Given the description of an element on the screen output the (x, y) to click on. 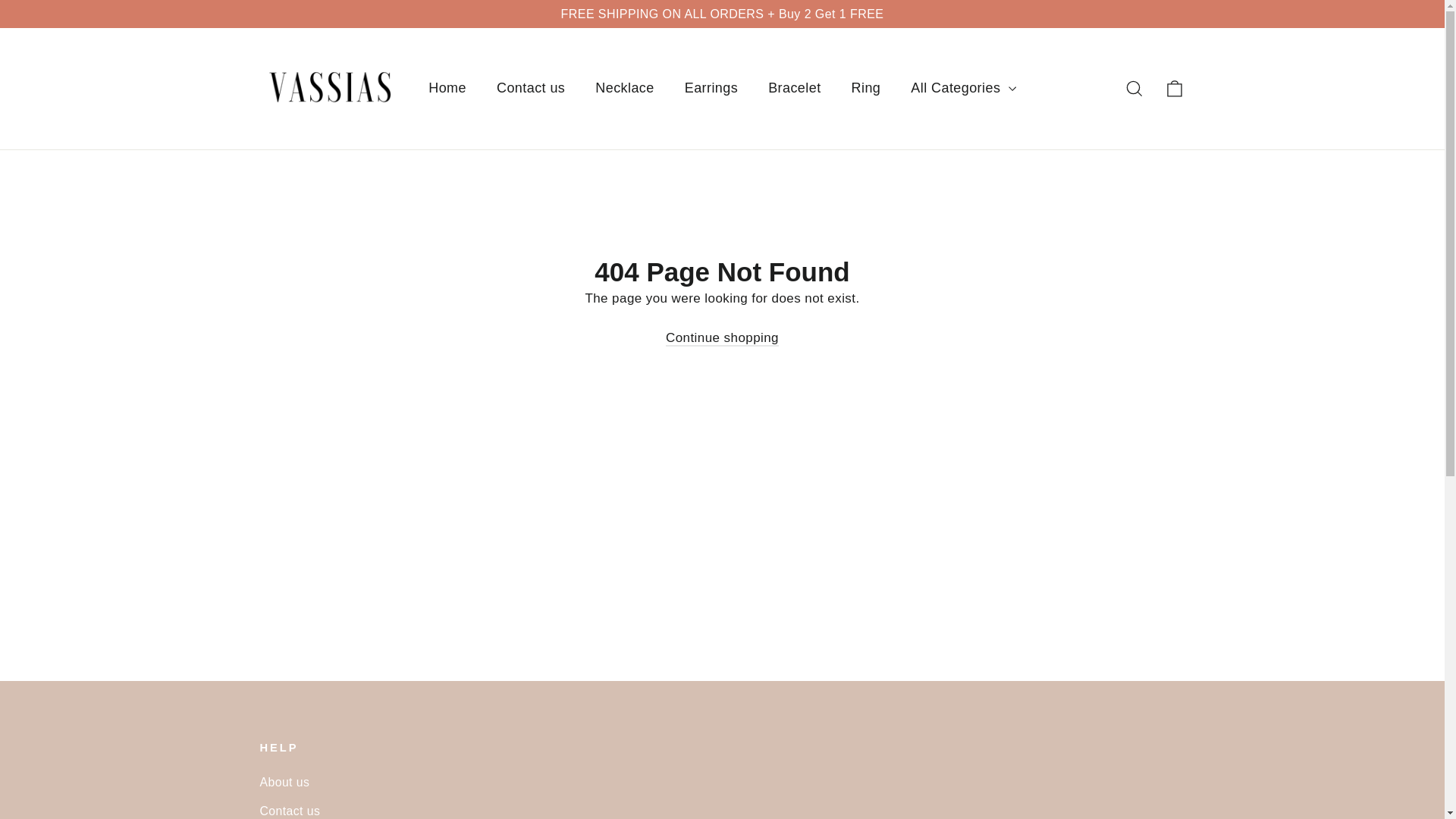
Earrings (710, 88)
Ring (865, 88)
Continue shopping (721, 338)
Necklace (623, 88)
Home (447, 88)
All Categories (962, 88)
Contact us (530, 88)
Bracelet (793, 88)
Cart (1173, 88)
Contact us (722, 808)
About us (722, 781)
Search (1134, 88)
